Given the description of an element on the screen output the (x, y) to click on. 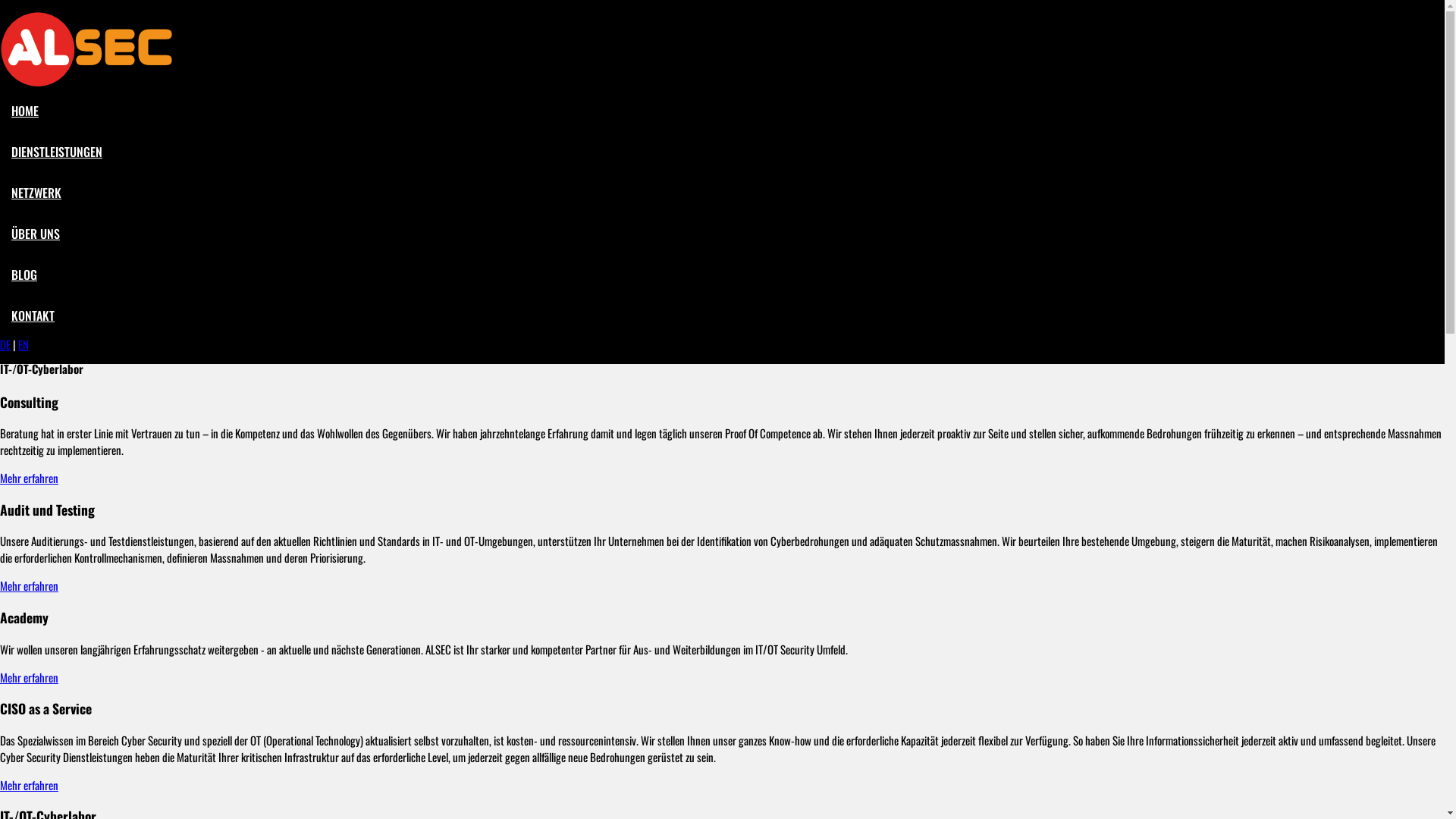
BLOG Element type: text (24, 274)
KONTAKT Element type: text (32, 315)
Mehr erfahren Element type: text (29, 477)
EN Element type: text (23, 343)
Mehr erfahren Element type: text (29, 676)
HOME Element type: text (24, 110)
NETZWERK Element type: text (36, 192)
Mehr erfahren Element type: text (29, 585)
DE Element type: text (5, 343)
Mehr erfahren Element type: text (29, 784)
DIENSTLEISTUNGEN Element type: text (56, 151)
